Given the description of an element on the screen output the (x, y) to click on. 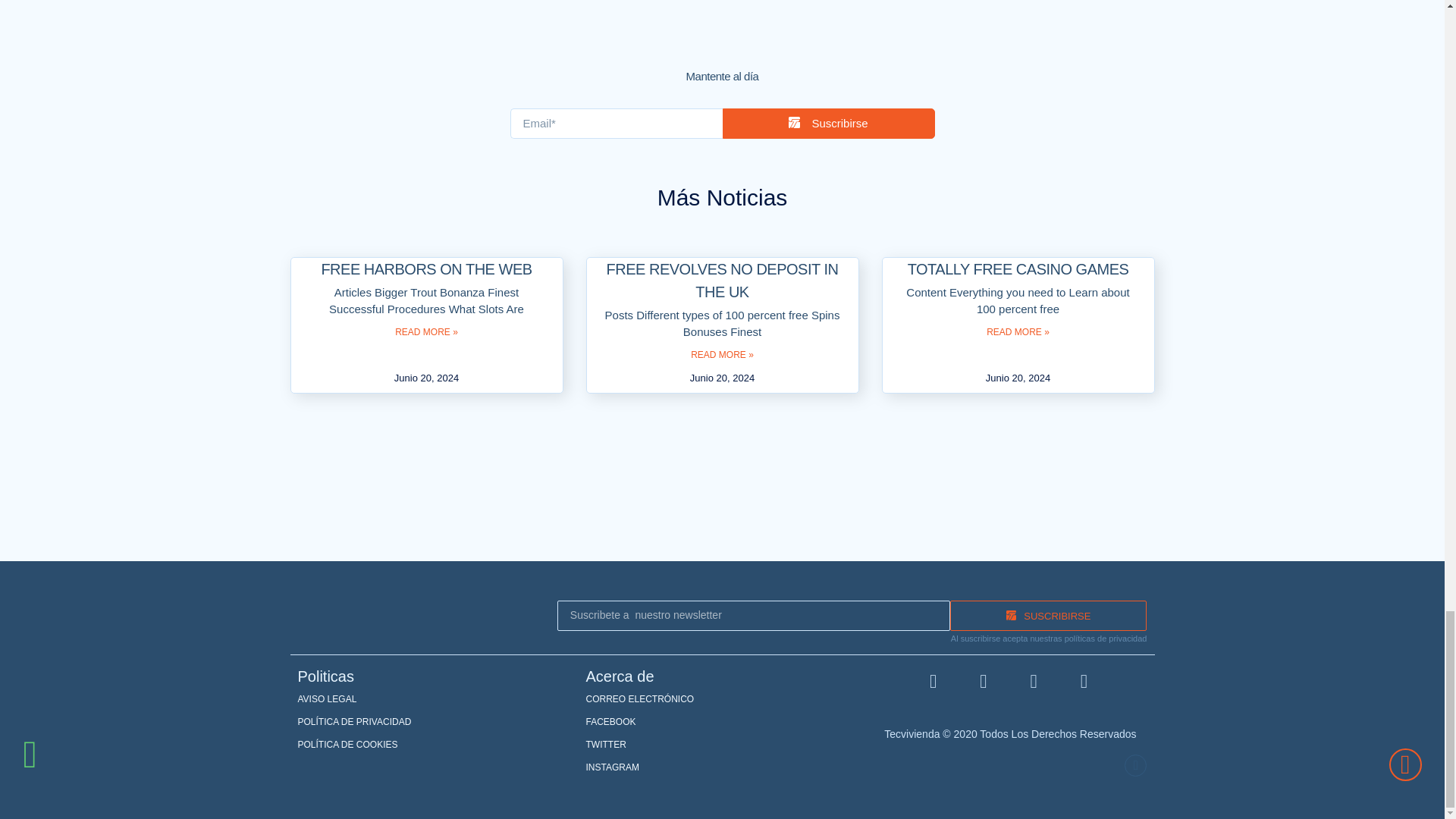
AVISO LEGAL (433, 698)
TOTALLY FREE CASINO GAMES (1018, 269)
FREE REVOLVES NO DEPOSIT IN THE UK (722, 280)
FREE HARBORS ON THE WEB (425, 269)
